Given the description of an element on the screen output the (x, y) to click on. 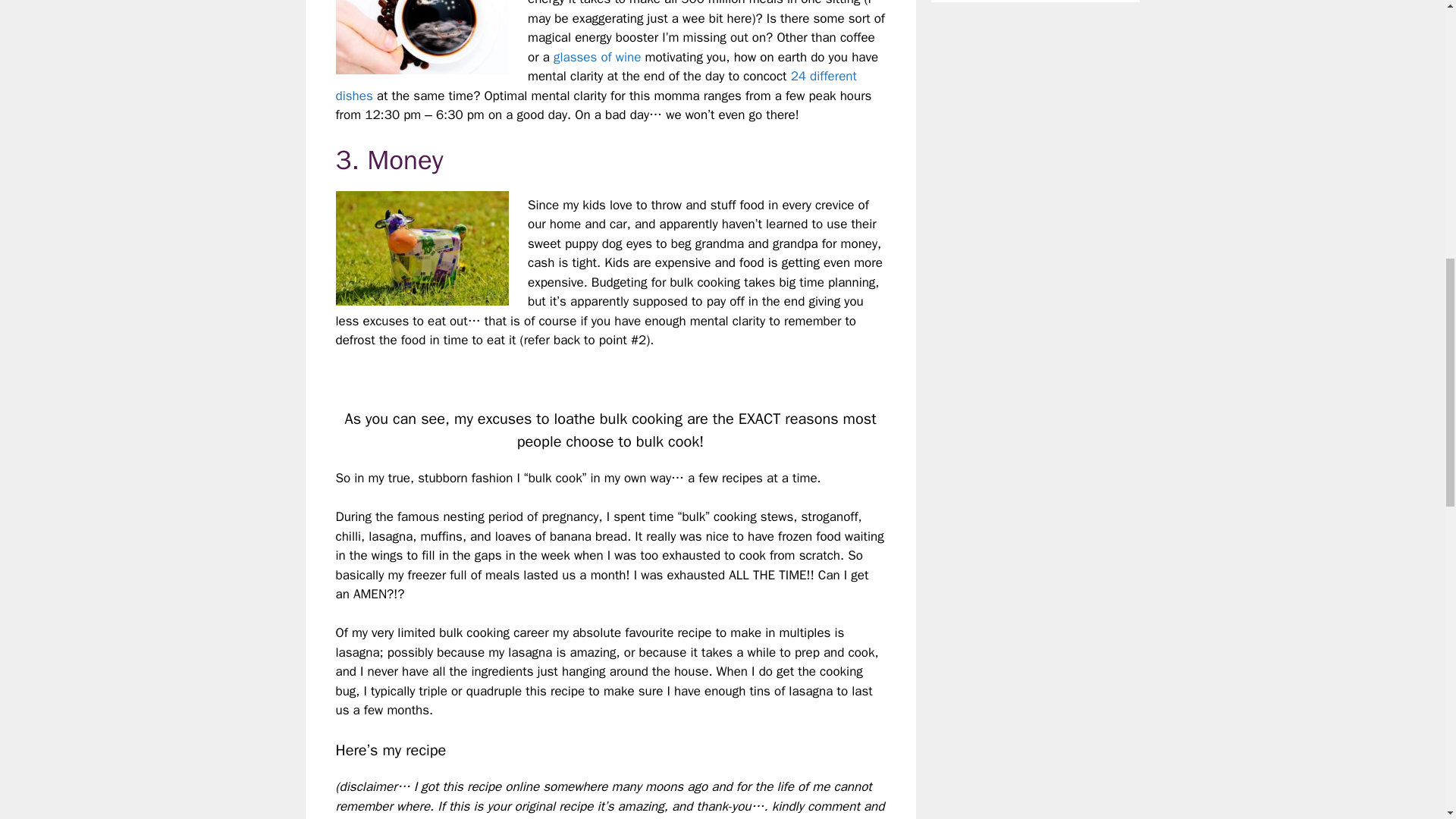
Scroll back to top (1406, 720)
glasses of wine (596, 57)
24 different dishes (595, 85)
